Given the description of an element on the screen output the (x, y) to click on. 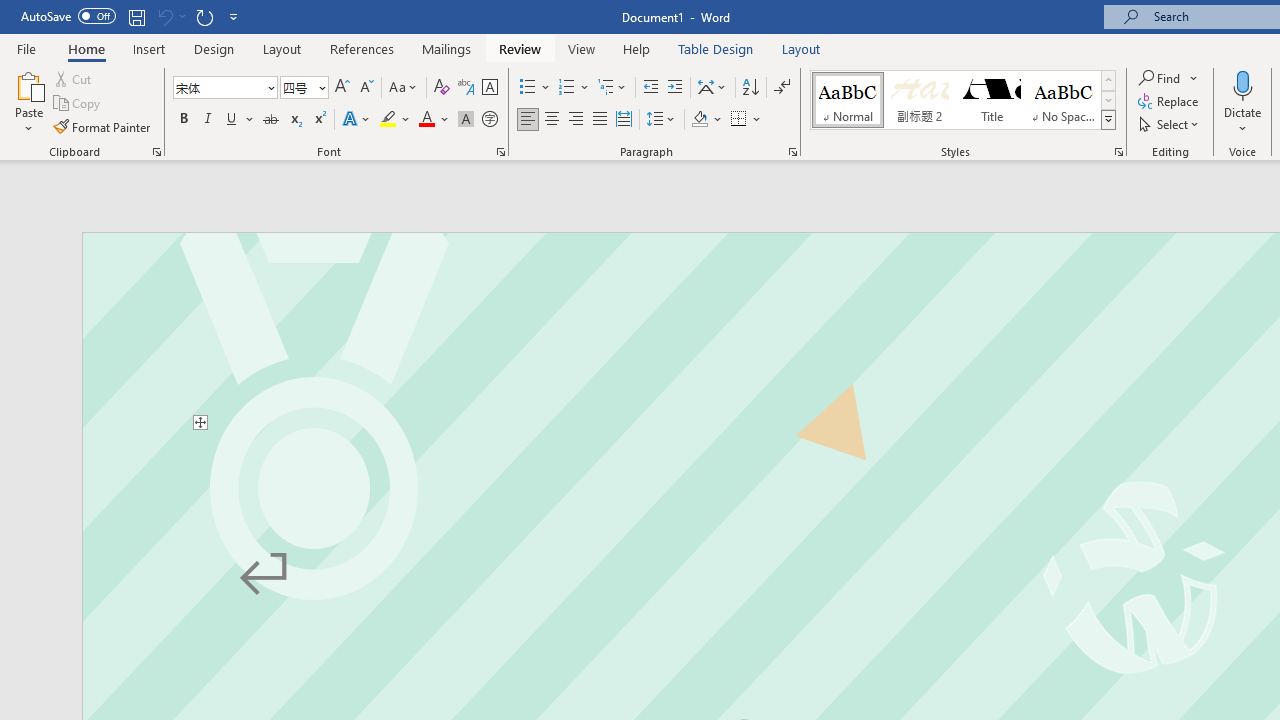
Bold (183, 119)
Align Left (527, 119)
Character Border (489, 87)
Strikethrough (270, 119)
Repeat Start Office Dictation (204, 15)
Table Design (715, 48)
Styles... (1118, 151)
